Given the description of an element on the screen output the (x, y) to click on. 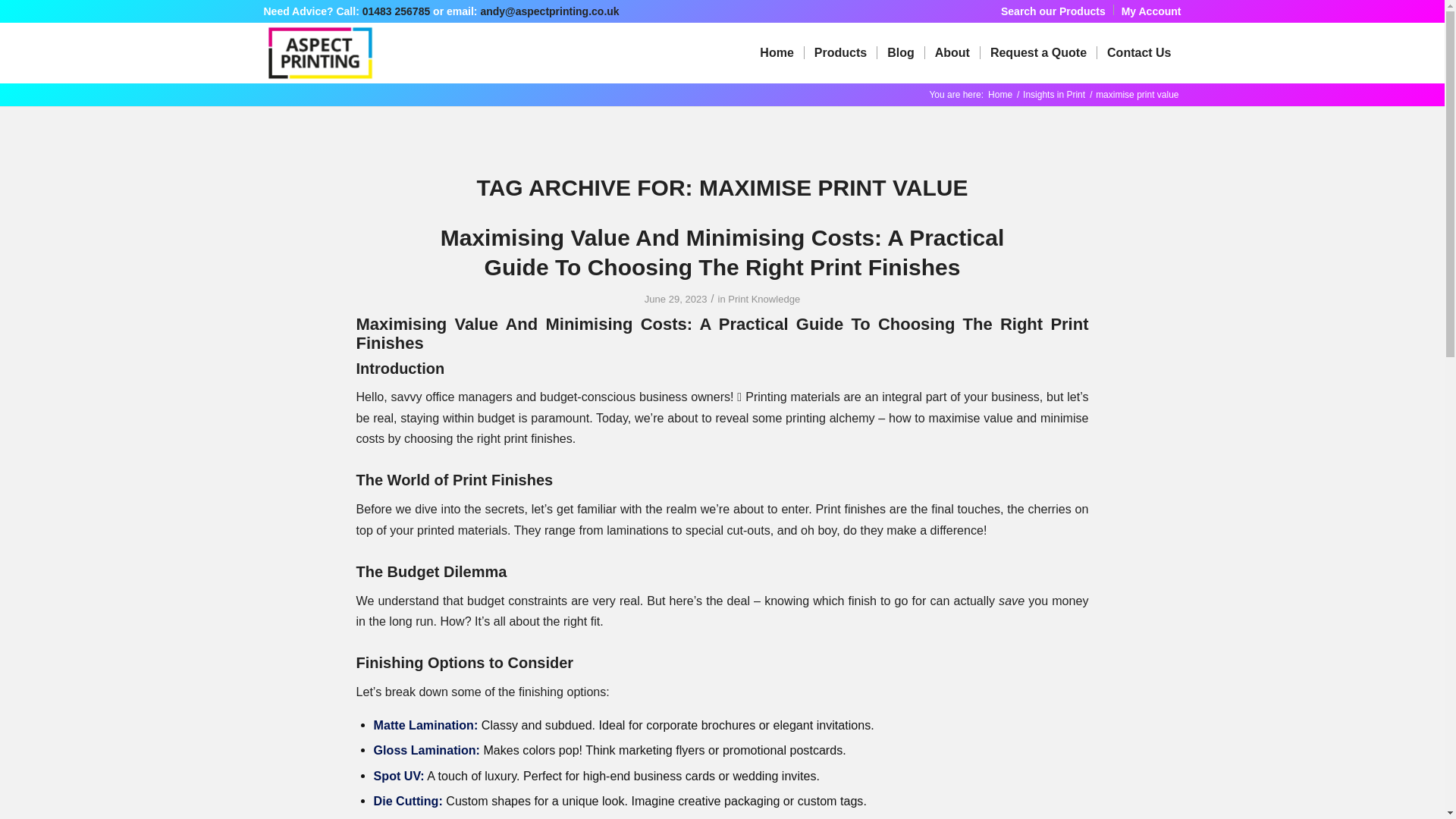
Aspect Printing (999, 94)
Search our Products (1053, 11)
Send us your print project idea (1037, 52)
Our Address and associated info (1138, 52)
All our print products (839, 52)
My Account (1150, 11)
01483 256785 (396, 10)
Search our print products (1053, 11)
Aspect Printing, what we stand for (951, 52)
